Given the description of an element on the screen output the (x, y) to click on. 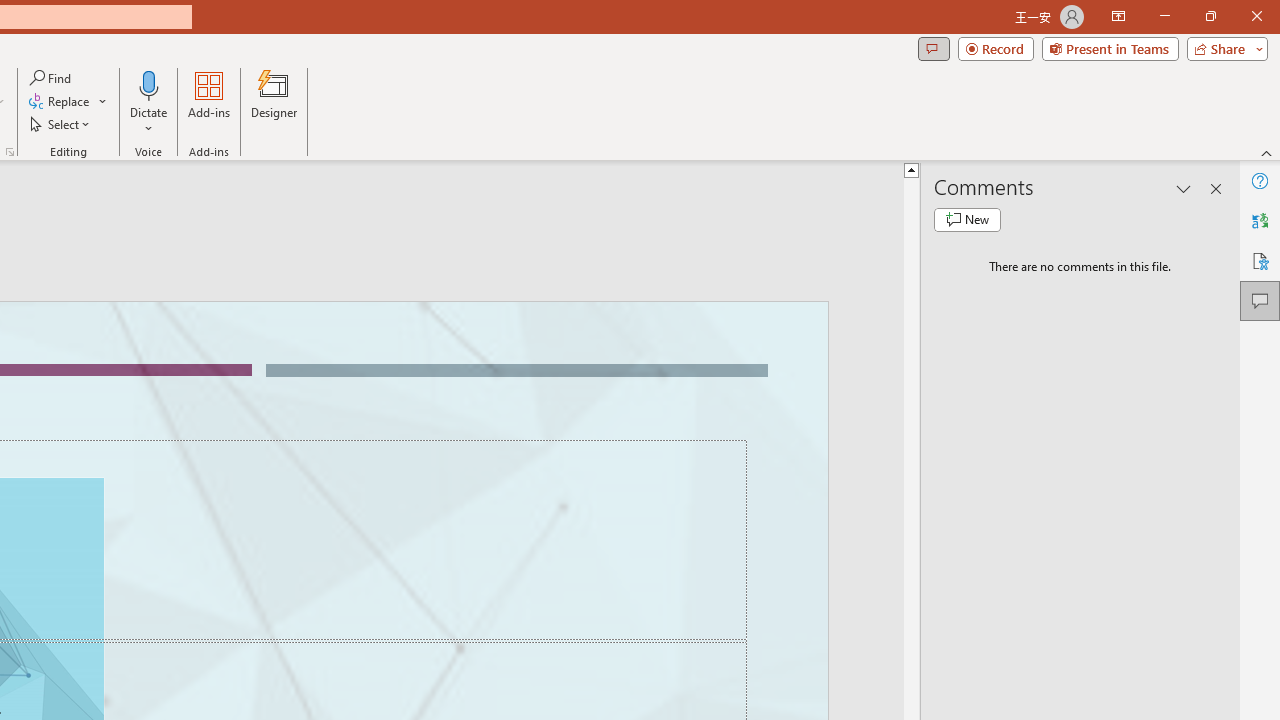
+86 159 0032 4640 (799, 672)
Microsoft Cashback - US$0.00 (1041, 216)
